Given the description of an element on the screen output the (x, y) to click on. 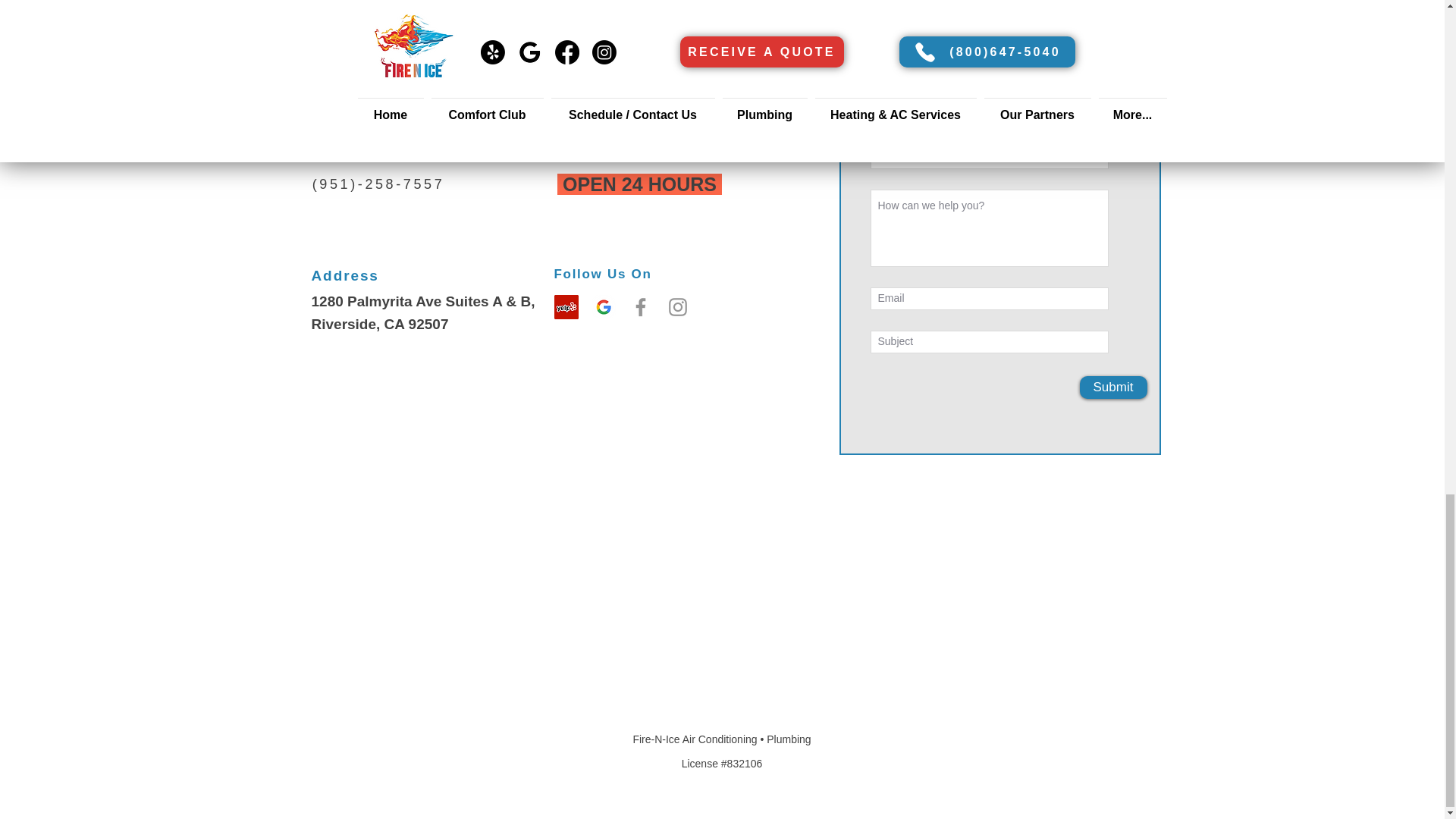
Submit (1113, 386)
